Given the description of an element on the screen output the (x, y) to click on. 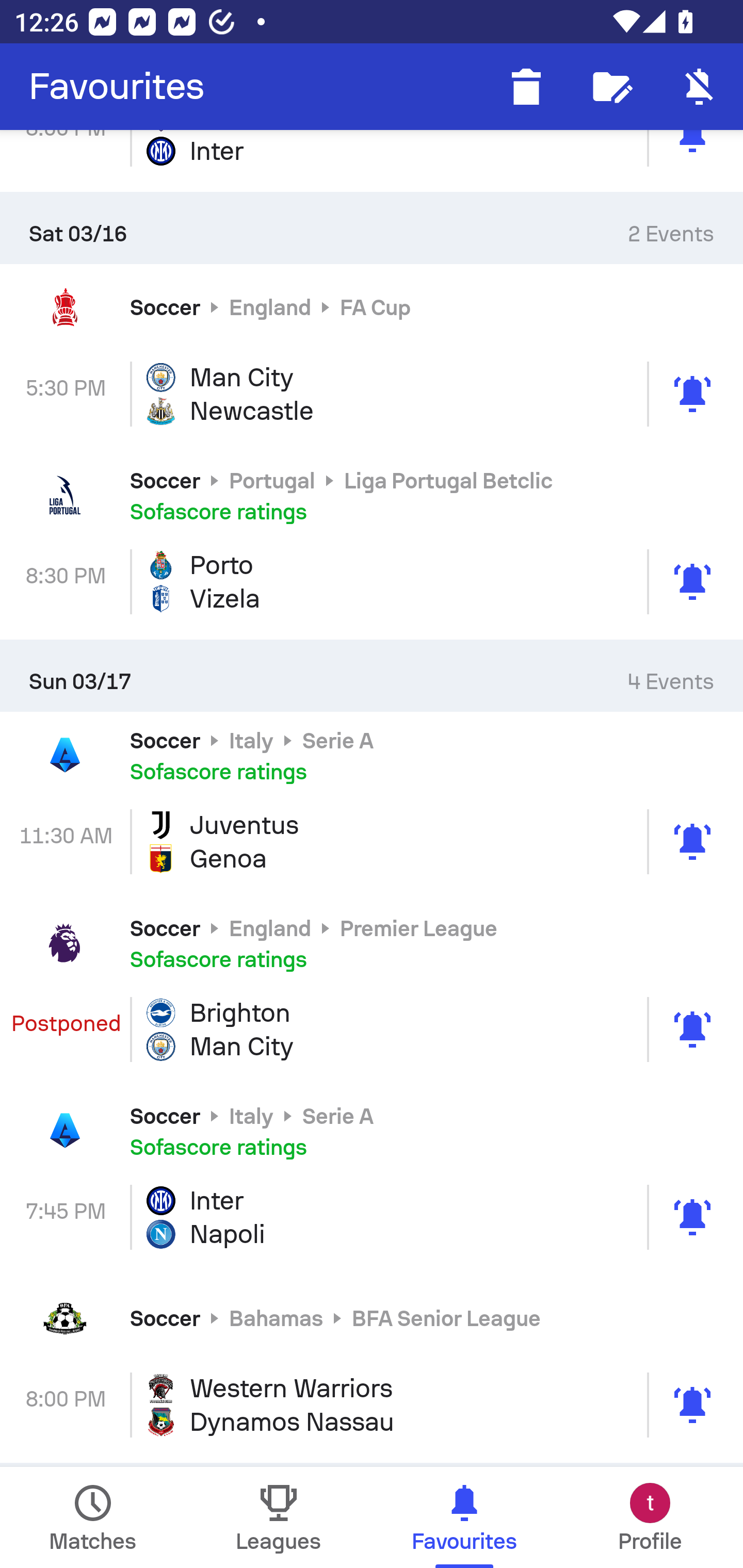
Favourites (116, 86)
Delete finished (525, 86)
Follow editor (612, 86)
Enable notifications (699, 86)
Sat 03/16 2 Events (371, 227)
Soccer England FA Cup (371, 307)
5:30 PM Man City Newcastle (371, 394)
8:30 PM Porto Vizela (371, 581)
Sun 03/17 4 Events (371, 675)
Soccer Italy Serie A Sofascore ratings (371, 754)
11:30 AM Juventus Genoa (371, 841)
Soccer England Premier League Sofascore ratings (371, 943)
Postponed Brighton Man City (371, 1029)
Soccer Italy Serie A Sofascore ratings (371, 1130)
7:45 PM Inter Napoli (371, 1217)
Soccer Bahamas BFA Senior League (371, 1317)
8:00 PM Western Warriors Dynamos Nassau (371, 1404)
Matches (92, 1517)
Leagues (278, 1517)
Profile (650, 1517)
